Given the description of an element on the screen output the (x, y) to click on. 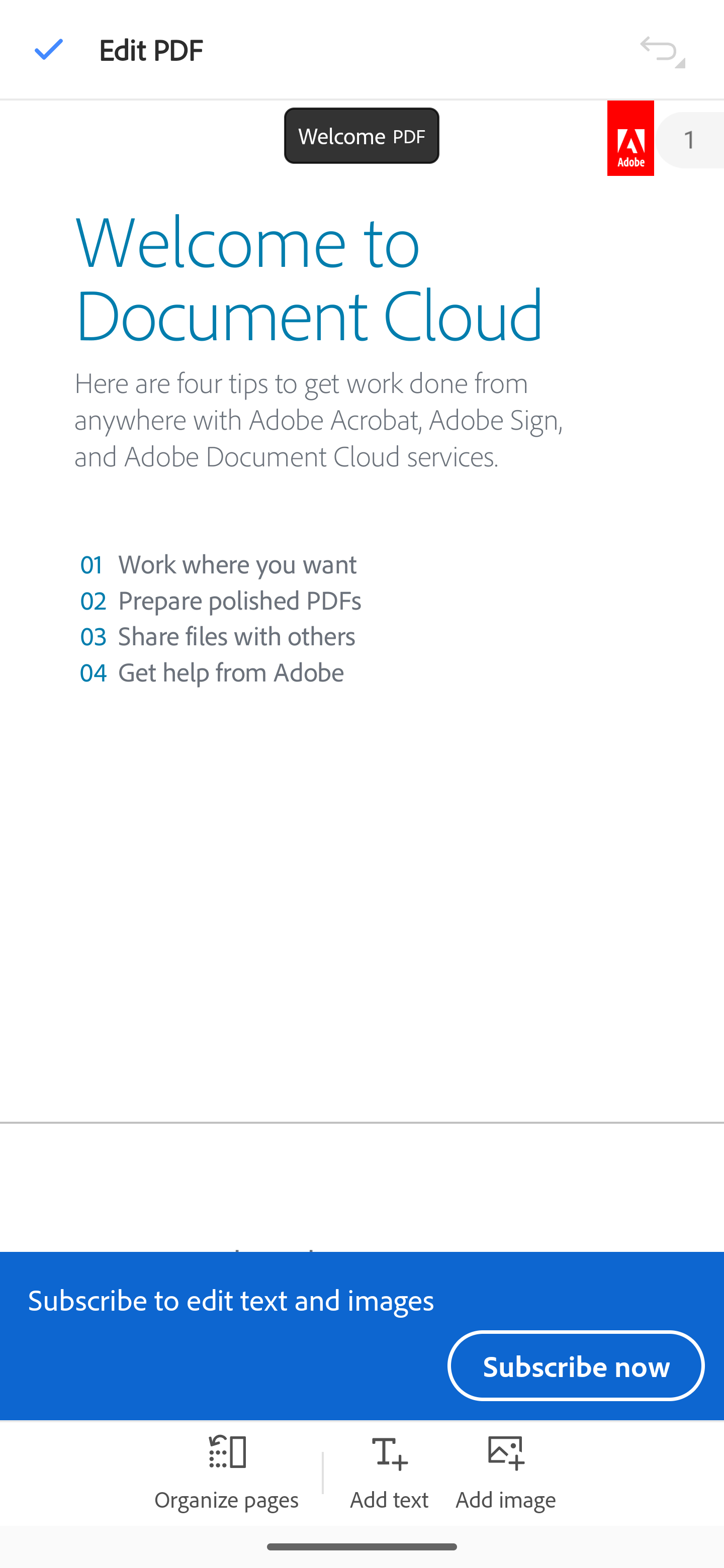
Done (49, 49)
Undo Disabled (662, 48)
Subscribe now (575, 1365)
Organize pages (226, 1472)
Organize pages Add text (389, 1472)
Organize pages Add image (505, 1472)
